Given the description of an element on the screen output the (x, y) to click on. 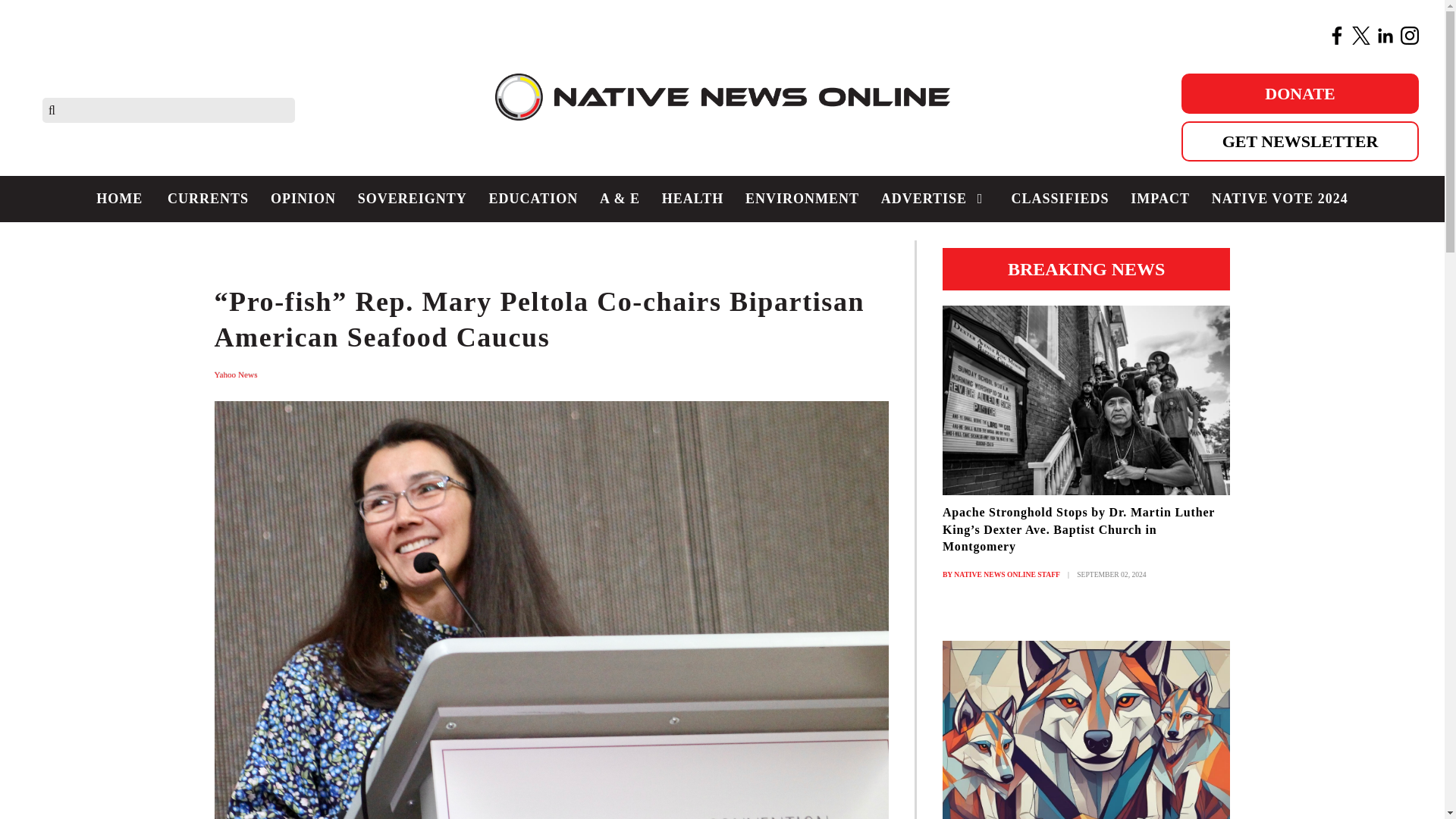
SOVEREIGNTY (411, 198)
NATIVE VOTE 2024 (1279, 198)
DONATE (1299, 93)
ENVIRONMENT (802, 198)
Yahoo News (237, 374)
OPINION (302, 198)
CLASSIFIEDS (1059, 198)
IMPACT (1159, 198)
CURRENTS (208, 198)
GET NEWSLETTER (1299, 141)
